Given the description of an element on the screen output the (x, y) to click on. 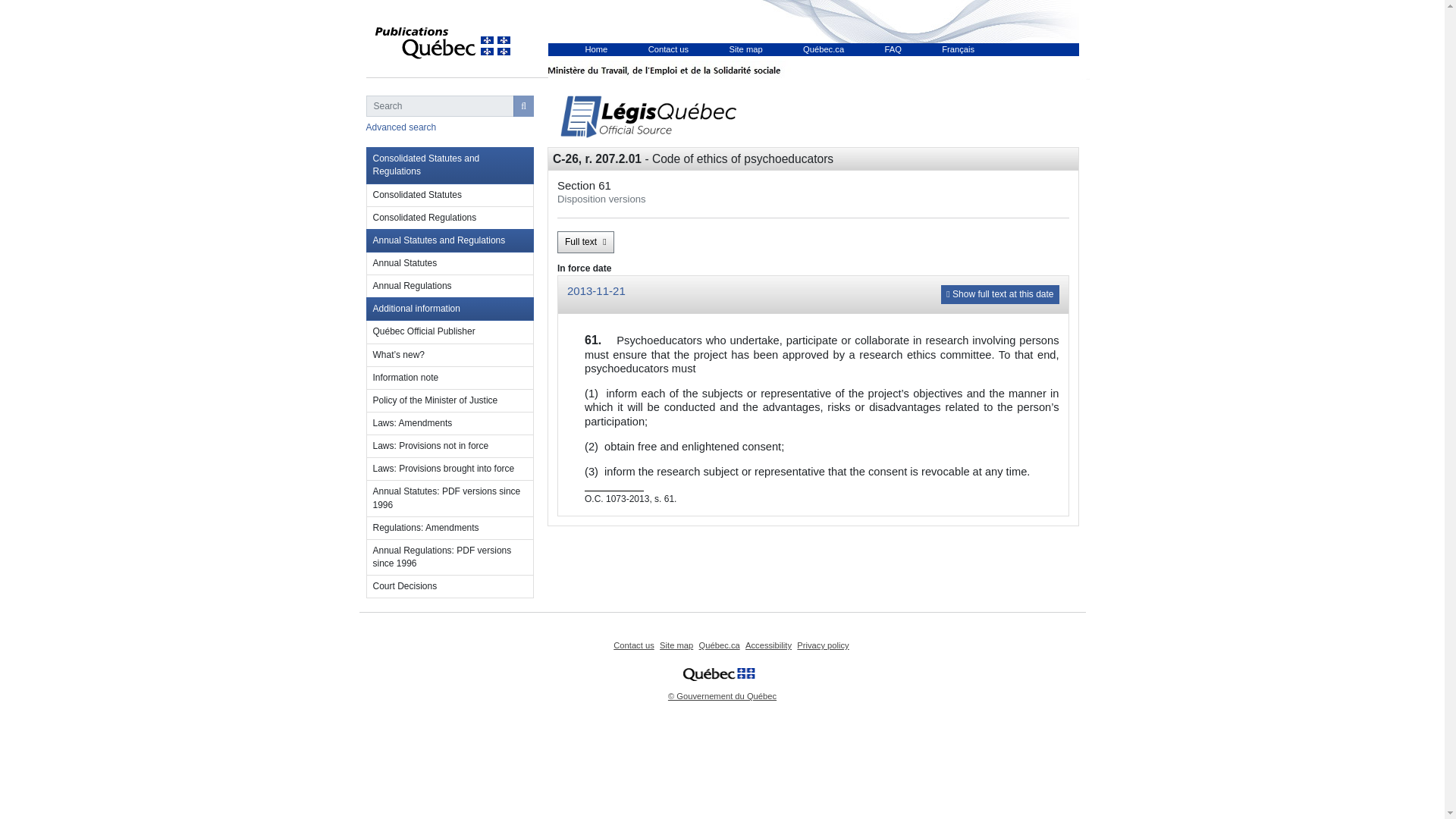
Regulations: Amendments (449, 527)
Laws: Amendments (449, 423)
Home (596, 49)
Accessibility (768, 645)
Advanced search (400, 127)
Site map (745, 49)
Annual Statutes and Regulations (449, 240)
Annual Regulations: PDF versions since 1996 (449, 557)
Show full text at this date (999, 294)
Annual Statutes (449, 263)
Contact us (633, 645)
Consolidated Regulations (449, 218)
Annual Regulations (449, 286)
Court Decisions (449, 586)
Privacy policy (822, 645)
